Given the description of an element on the screen output the (x, y) to click on. 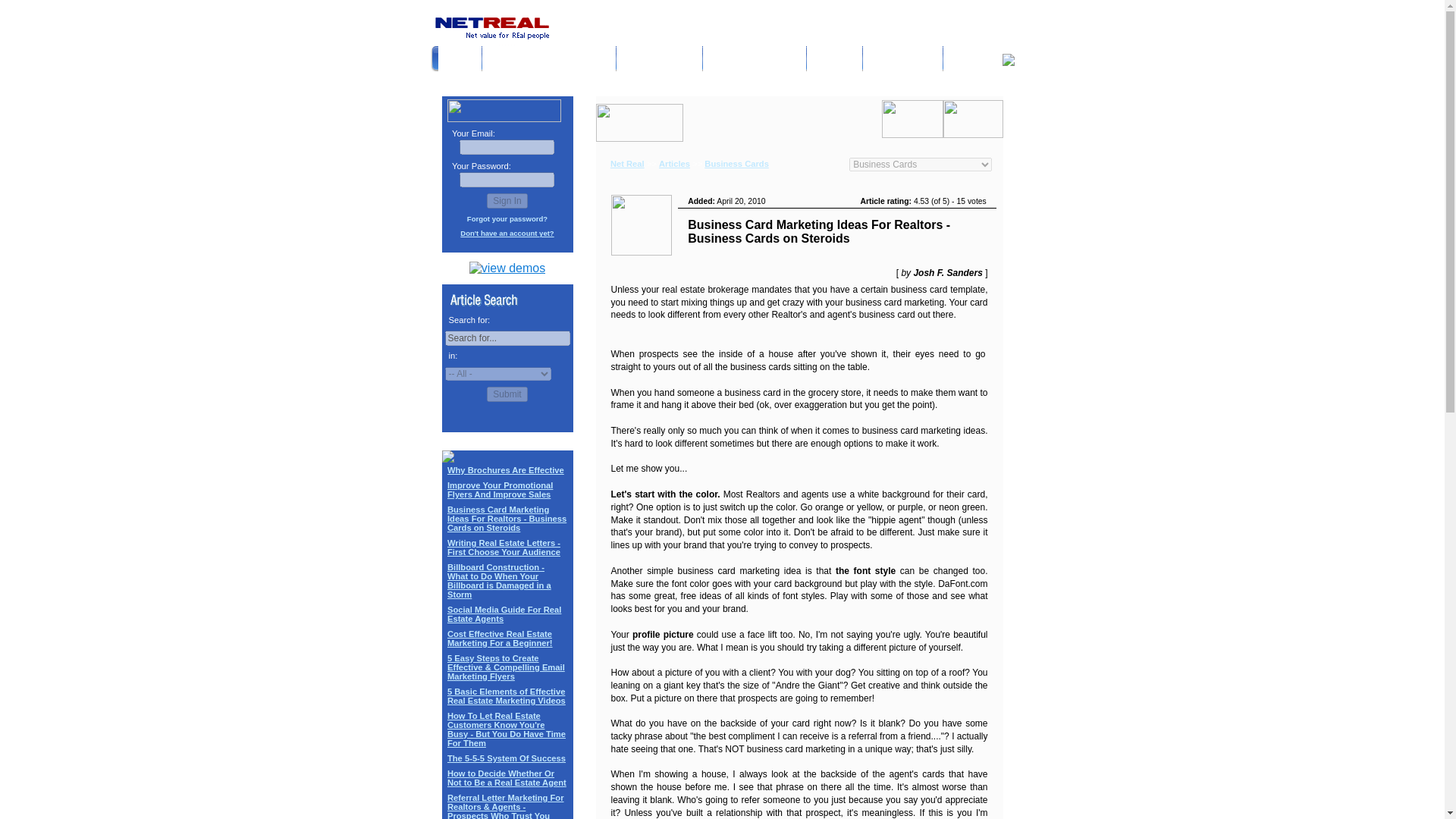
Writing Real Estate Letters - First Choose Your Audience (503, 547)
Business Cards (736, 163)
My Account (659, 59)
The 5-5-5 System Of Success (506, 757)
Don't have an account yet? (506, 233)
5 Basic Elements of Effective Real Estate Marketing Videos (506, 696)
NetReal Solutions (549, 59)
Cost Effective Real Estate Marketing For a Beginner! (499, 638)
Home (458, 59)
